Given the description of an element on the screen output the (x, y) to click on. 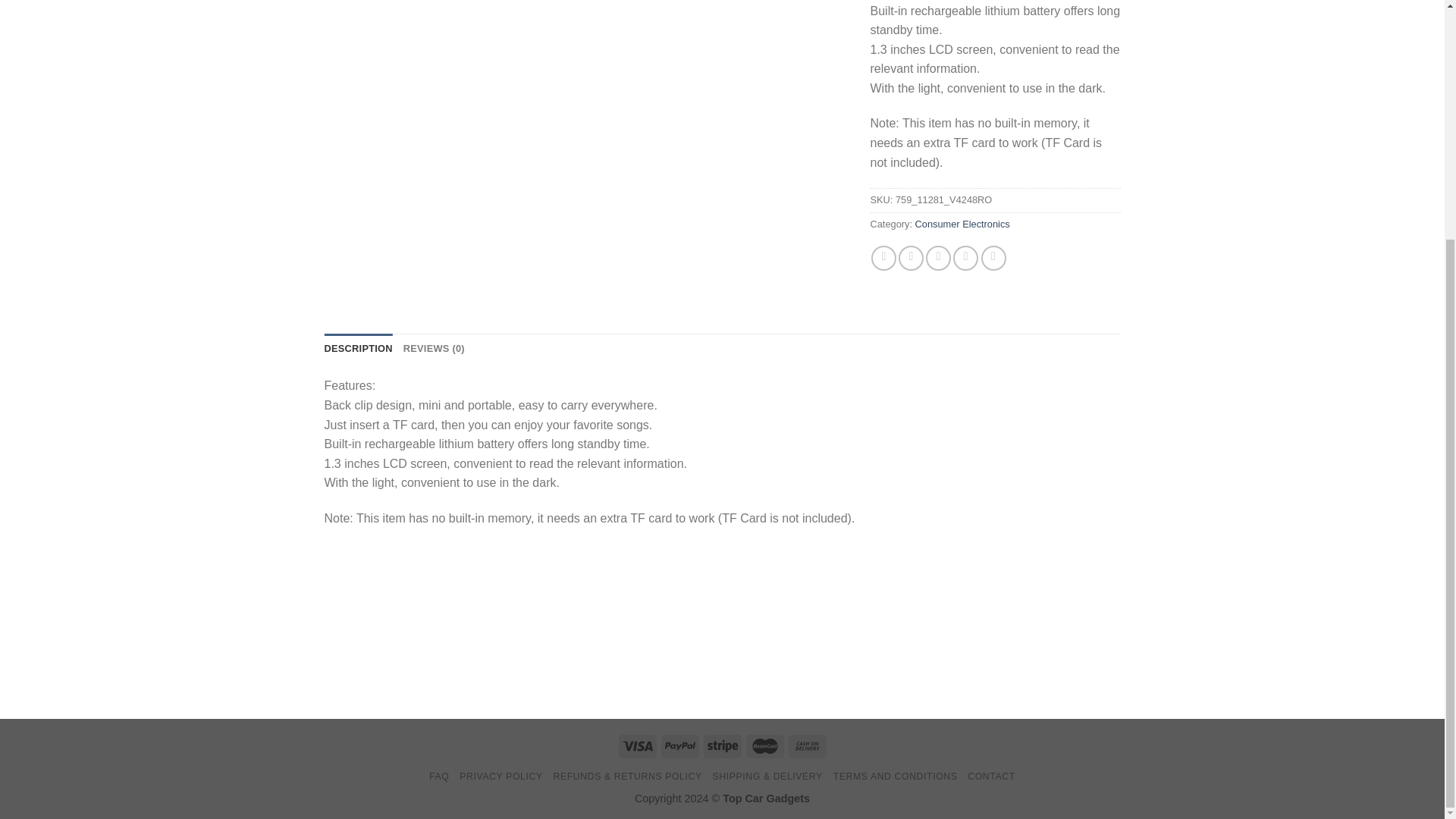
Email to a Friend (938, 258)
Share on Tumblr (993, 258)
PRIVACY POLICY (500, 776)
Consumer Electronics (962, 224)
FAQ (438, 776)
Pin on Pinterest (965, 258)
DESCRIPTION (358, 348)
Share on Facebook (883, 258)
Share on Twitter (910, 258)
